Given the description of an element on the screen output the (x, y) to click on. 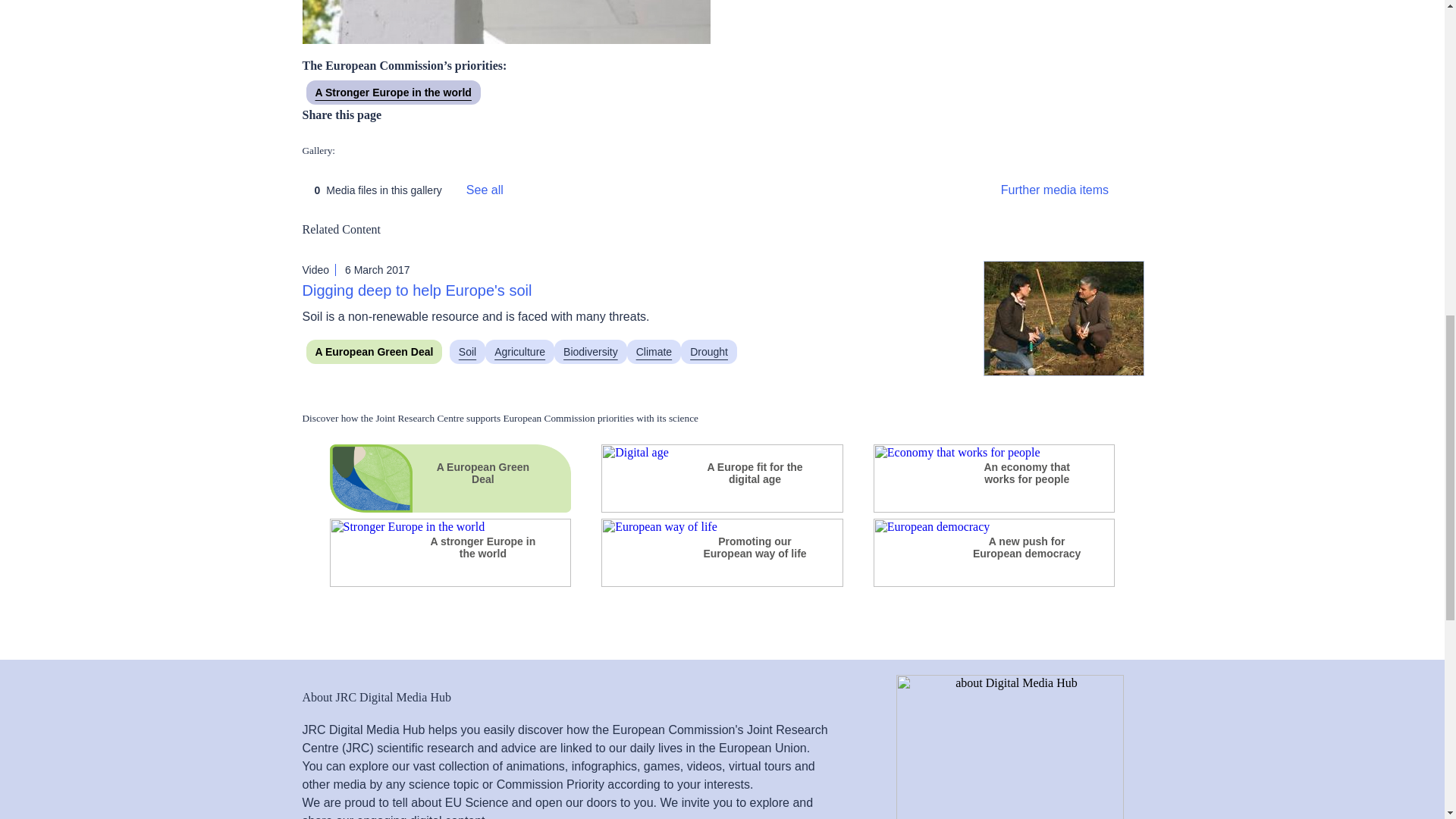
Digging deep to help Europe's soil (416, 289)
Biodiversity (590, 351)
Soil (466, 351)
A Stronger Europe in the world (392, 92)
Climate (654, 351)
A European Green Deal (373, 351)
Further media items (1066, 190)
Drought (708, 351)
See all (484, 190)
Agriculture (519, 351)
